Given the description of an element on the screen output the (x, y) to click on. 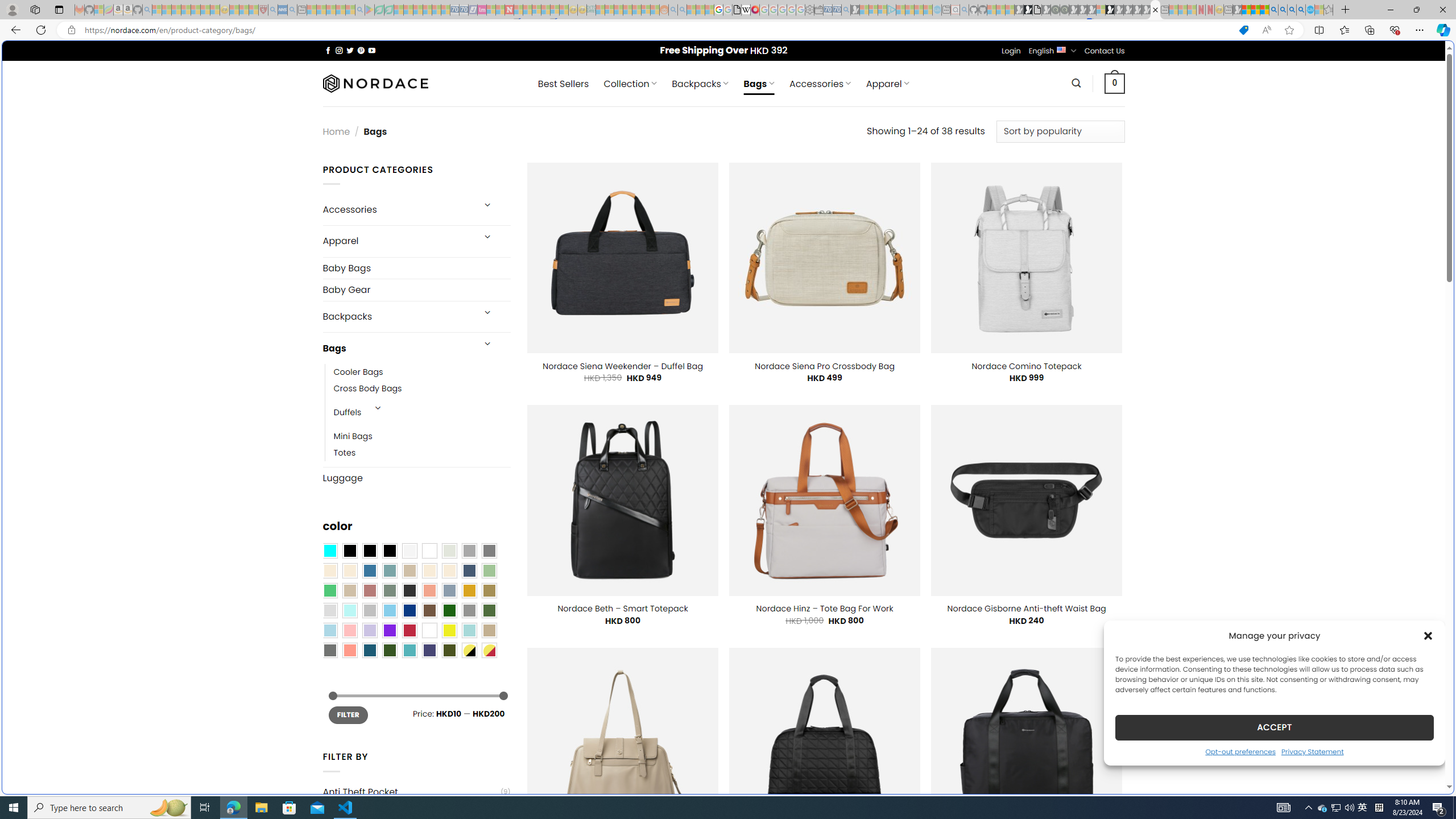
All Black (349, 550)
 0  (1115, 83)
Brownie (408, 570)
Light Blue (329, 630)
Contact Us (1104, 50)
Brown (429, 610)
MediaWiki (754, 9)
White (429, 630)
Accessories (397, 209)
